Given the description of an element on the screen output the (x, y) to click on. 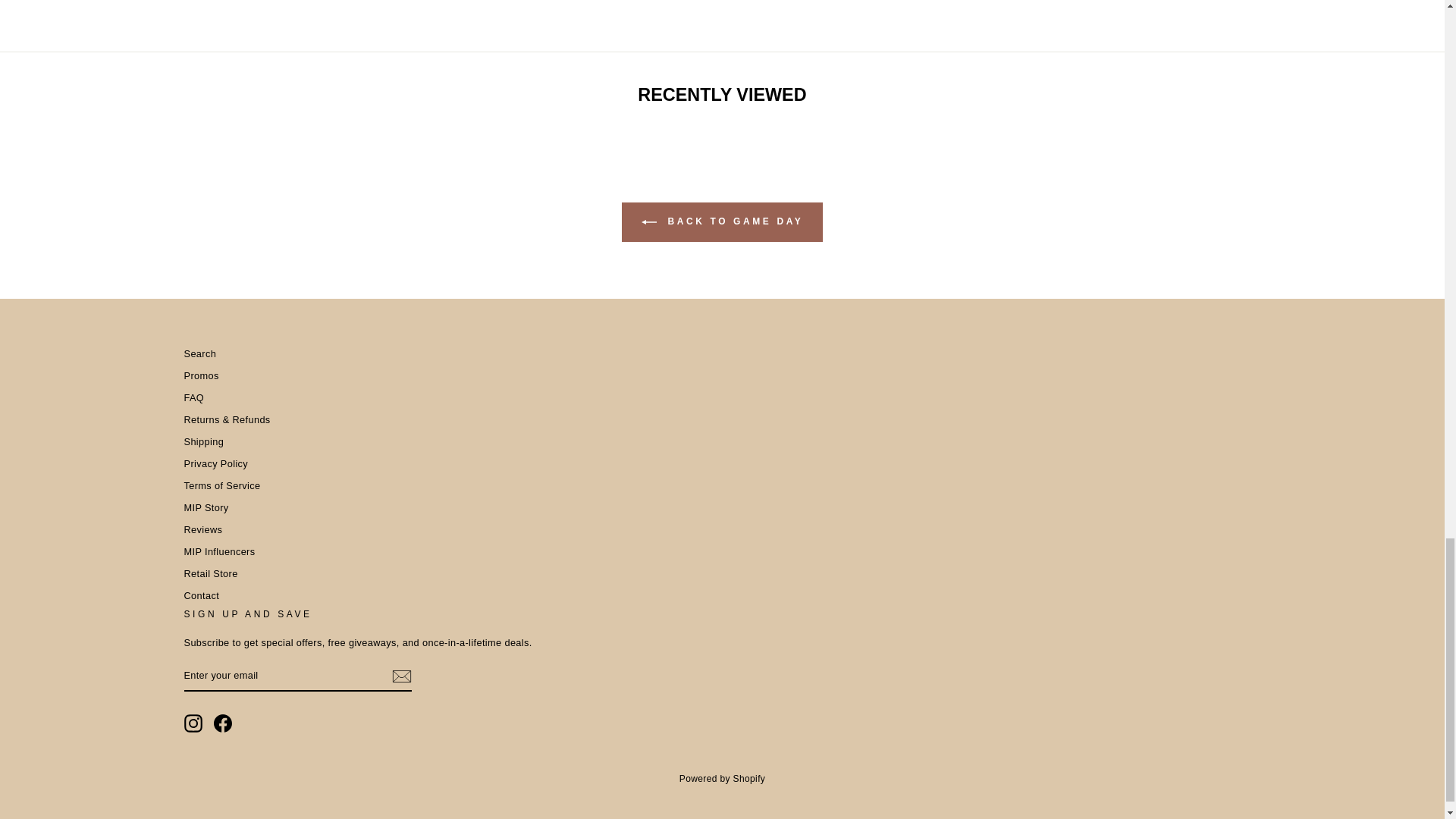
Make it Personal MM on Instagram (192, 723)
Make it Personal MM on Facebook (222, 723)
